Given the description of an element on the screen output the (x, y) to click on. 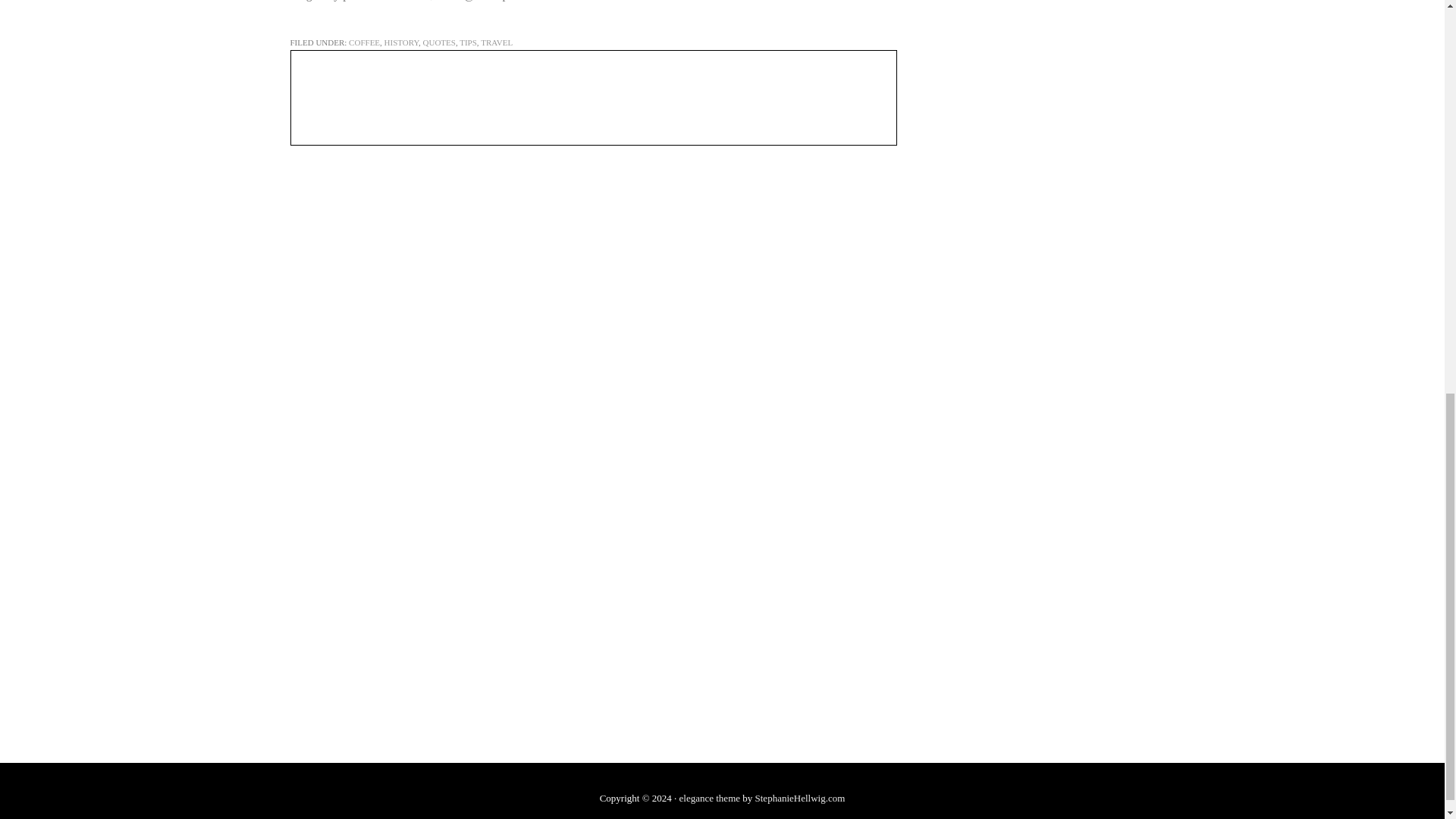
TRAVEL (496, 41)
HISTORY (401, 41)
elegance theme (709, 797)
QUOTES (439, 41)
TIPS (468, 41)
COFFEE (364, 41)
Advertisement (1040, 119)
StephanieHellwig.com (800, 797)
